Given the description of an element on the screen output the (x, y) to click on. 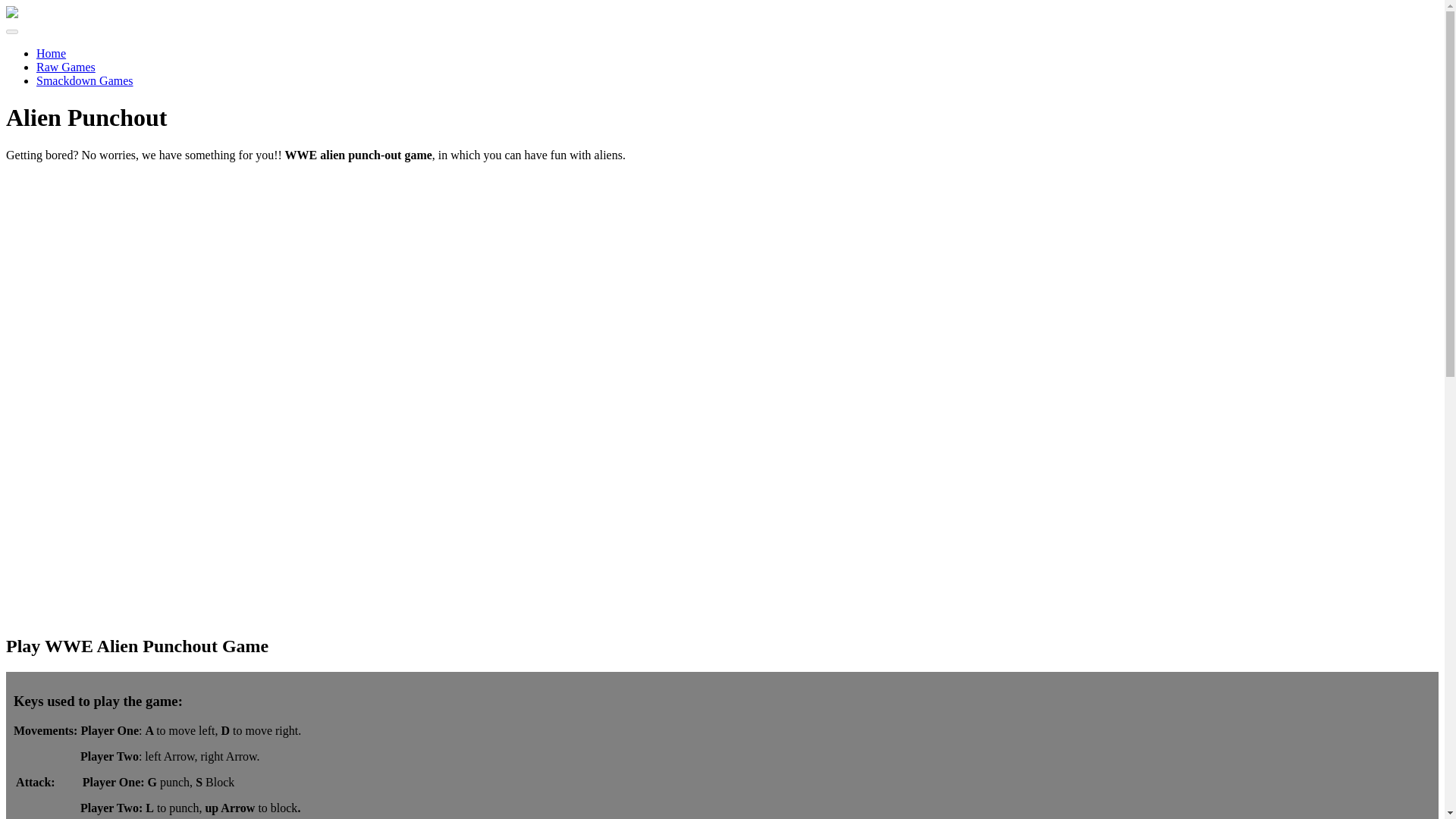
Raw Games (66, 66)
Smackdown Games (84, 80)
Home (50, 52)
